Given the description of an element on the screen output the (x, y) to click on. 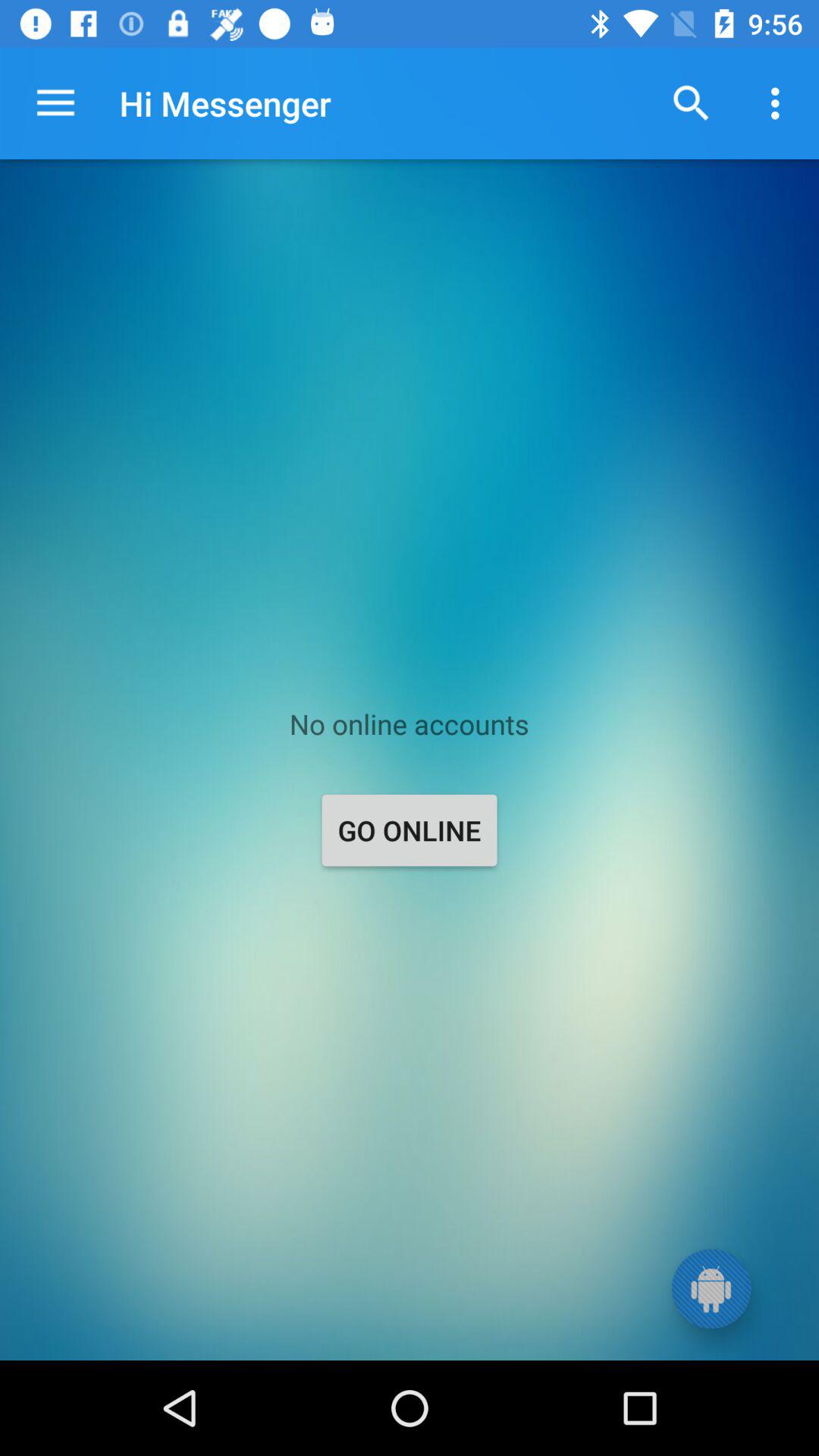
click icon below the no online accounts icon (409, 830)
